Given the description of an element on the screen output the (x, y) to click on. 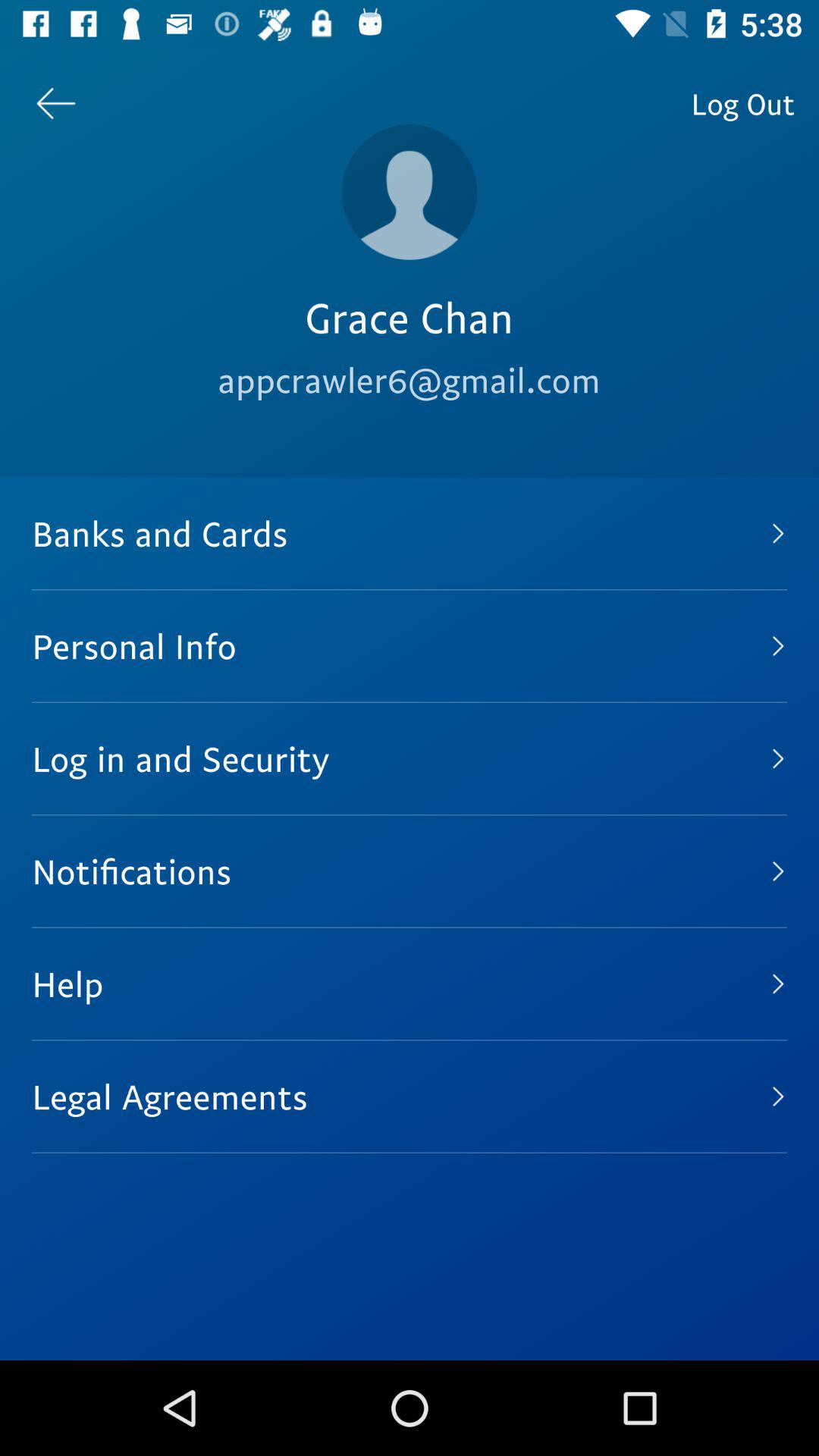
jump to the log out item (743, 103)
